Given the description of an element on the screen output the (x, y) to click on. 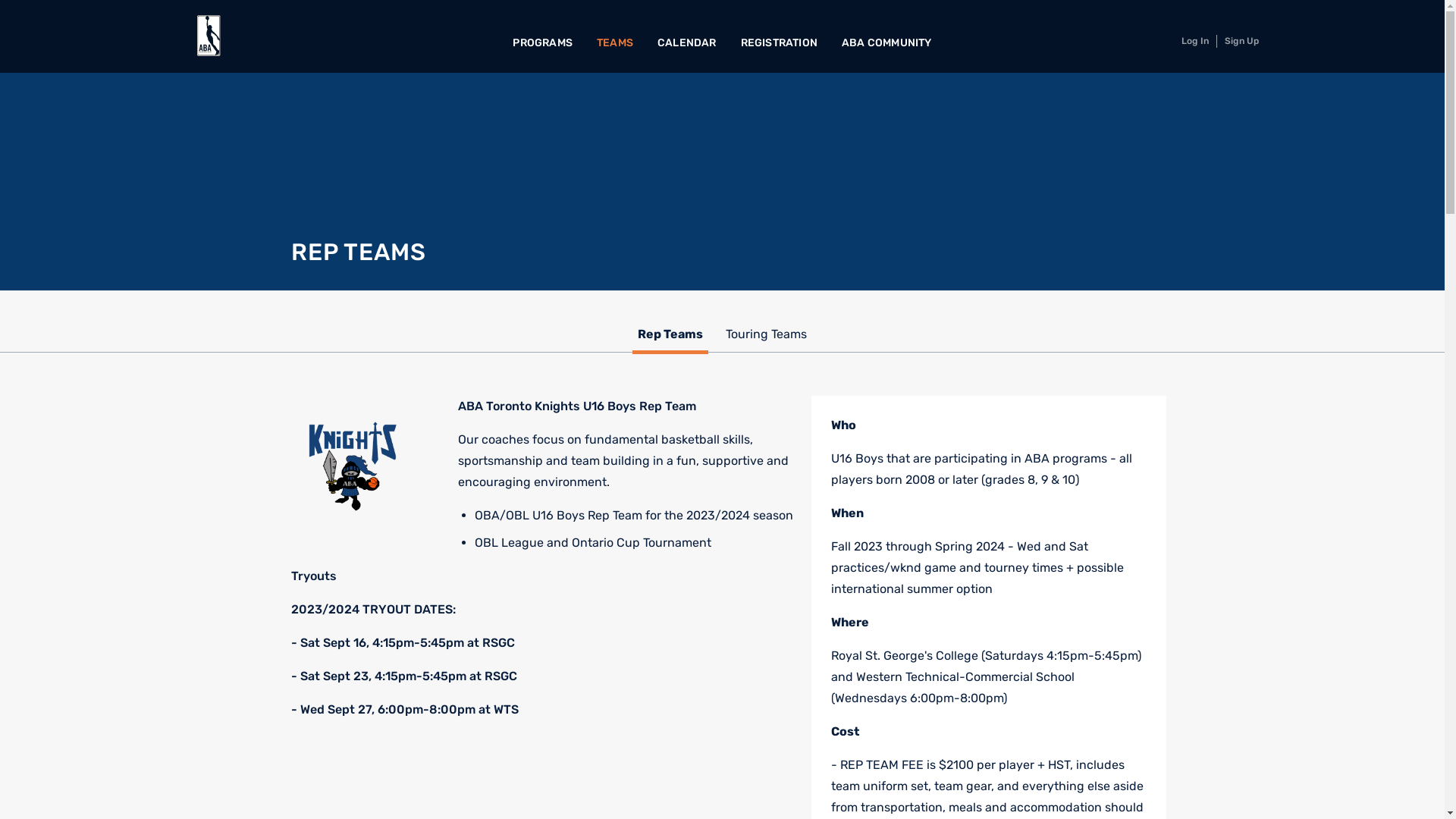
Rep Teams Element type: text (669, 336)
Log In Element type: text (1194, 40)
PROGRAMS Element type: text (542, 43)
CALENDAR Element type: text (686, 43)
Sign me up Element type: text (835, 464)
TEAMS Element type: text (614, 43)
Albany Avenue Basketball Association Element type: text (208, 36)
Sign Up Element type: text (1241, 40)
REGISTRATION Element type: text (778, 43)
ABA COMMUNITY Element type: text (886, 43)
Touring Teams Element type: text (765, 336)
